Given the description of an element on the screen output the (x, y) to click on. 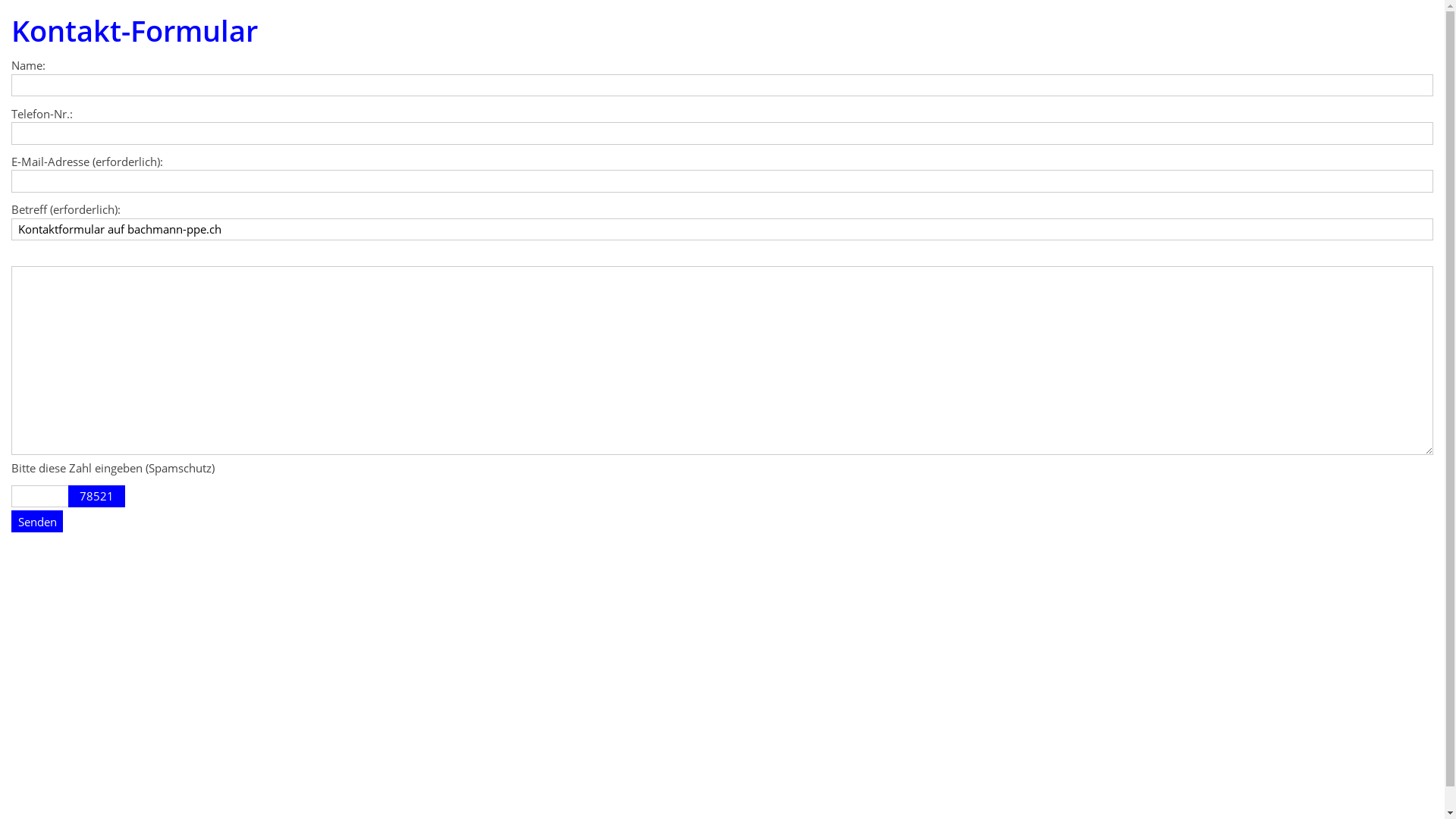
Mitteilungstext Element type: hover (722, 360)
Senden Element type: text (36, 521)
